Given the description of an element on the screen output the (x, y) to click on. 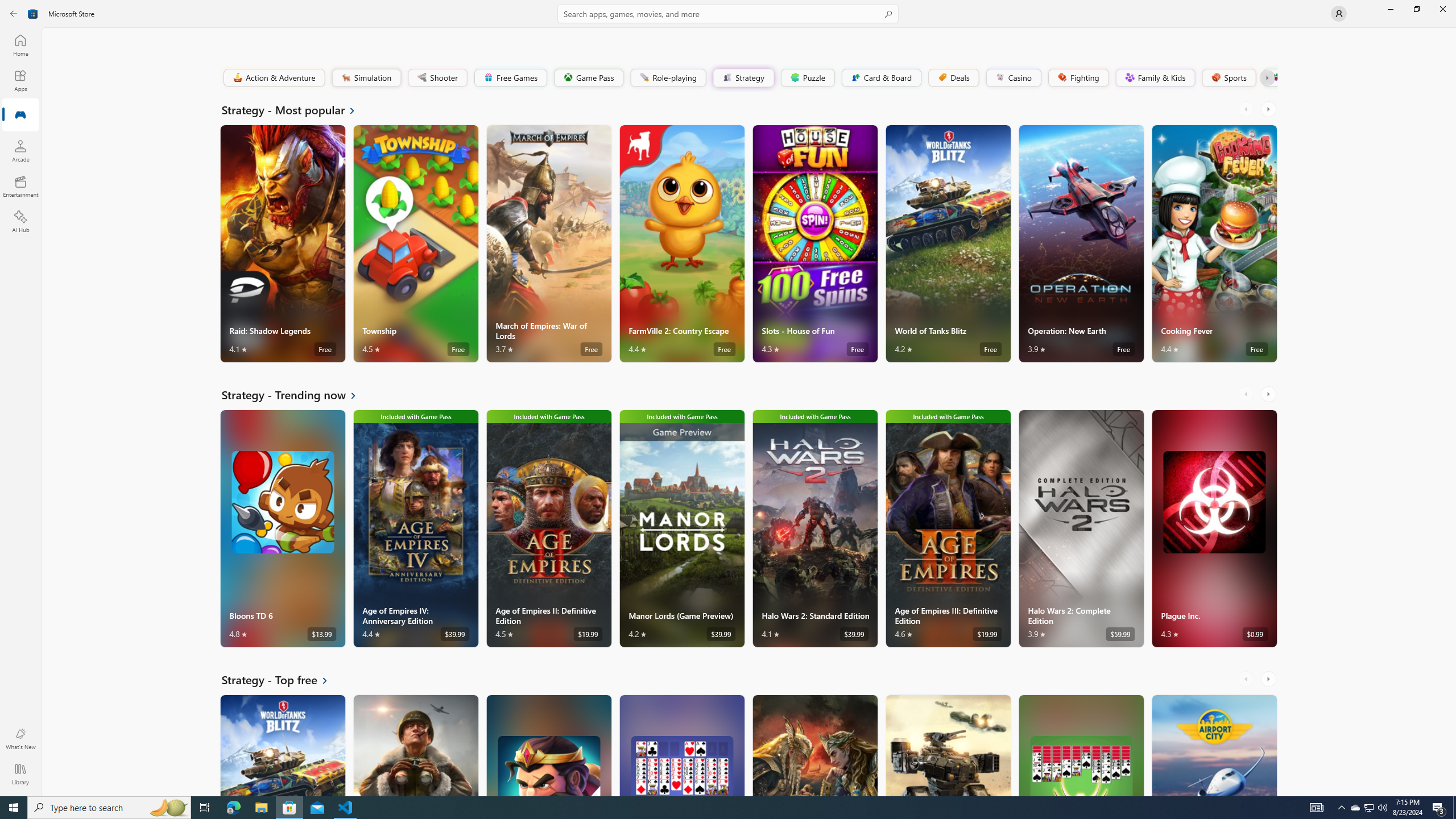
Home (20, 45)
Action & Adventure (273, 77)
Deals (952, 77)
Library (20, 773)
Minimize Microsoft Store (1390, 9)
Family & Kids (1154, 77)
Back (13, 13)
Township. Average rating of 4.5 out of five stars. Free   (415, 243)
Shooter (436, 77)
Apps (20, 80)
Fighting (1078, 77)
Gaming (20, 115)
